Given the description of an element on the screen output the (x, y) to click on. 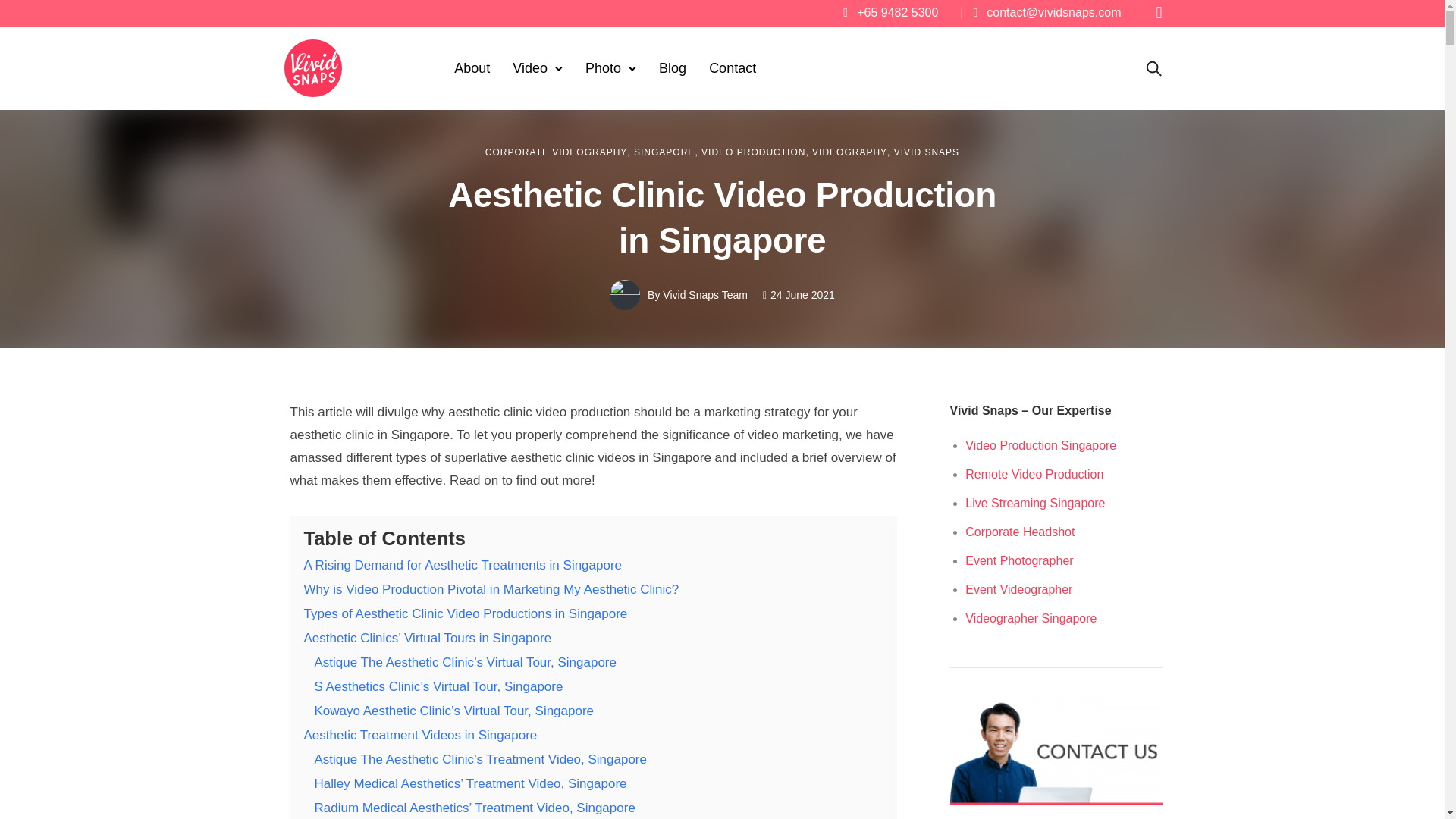
Photo (603, 68)
About (471, 68)
CORPORATE VIDEOGRAPHY (555, 152)
About (471, 68)
Blog (672, 68)
Blog (672, 68)
SINGAPORE (663, 152)
Contact (731, 68)
Video (529, 68)
VIDEO PRODUCTION (753, 152)
